Given the description of an element on the screen output the (x, y) to click on. 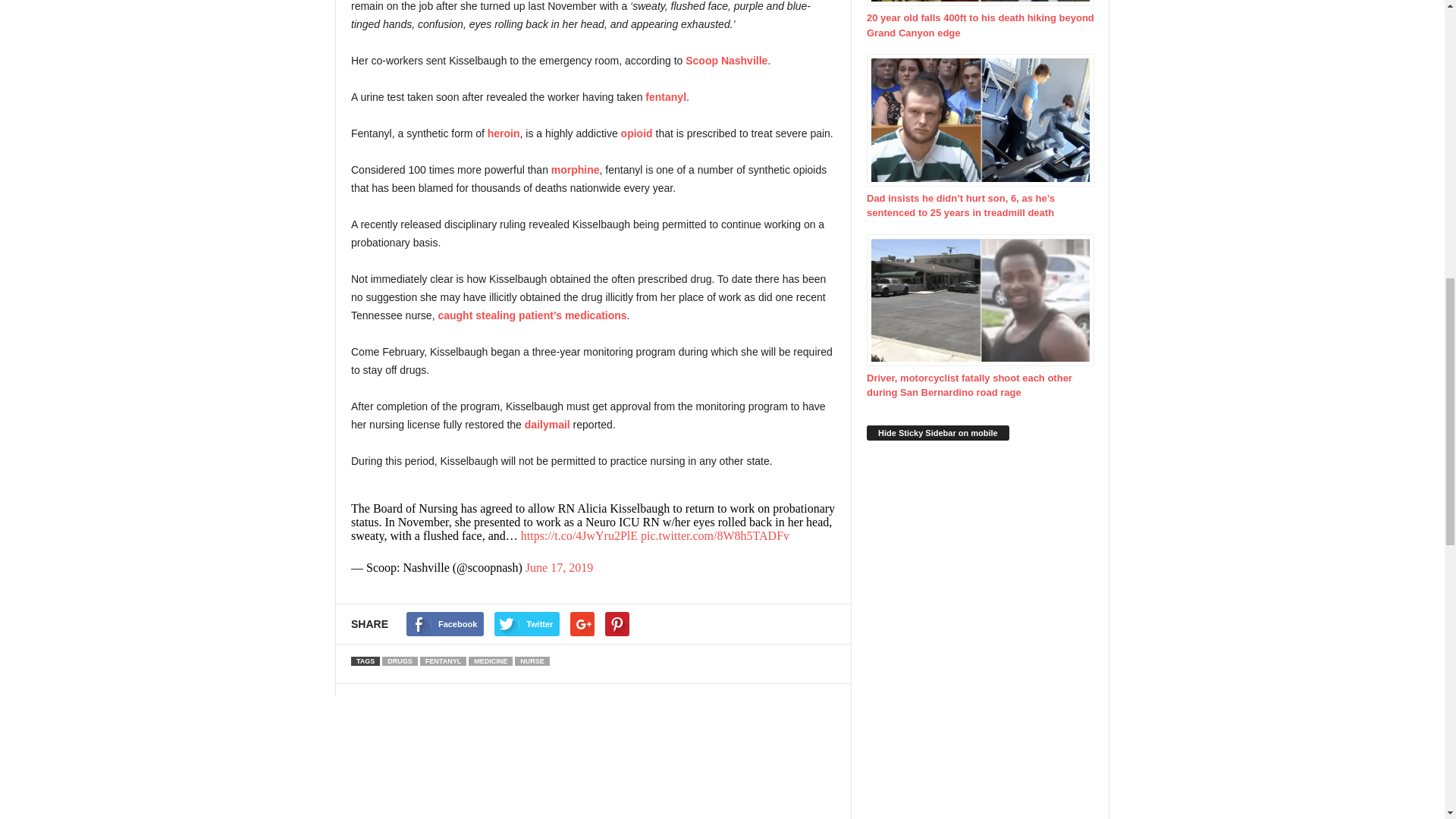
Scoop Nashville (726, 60)
fentanyl (665, 96)
